Given the description of an element on the screen output the (x, y) to click on. 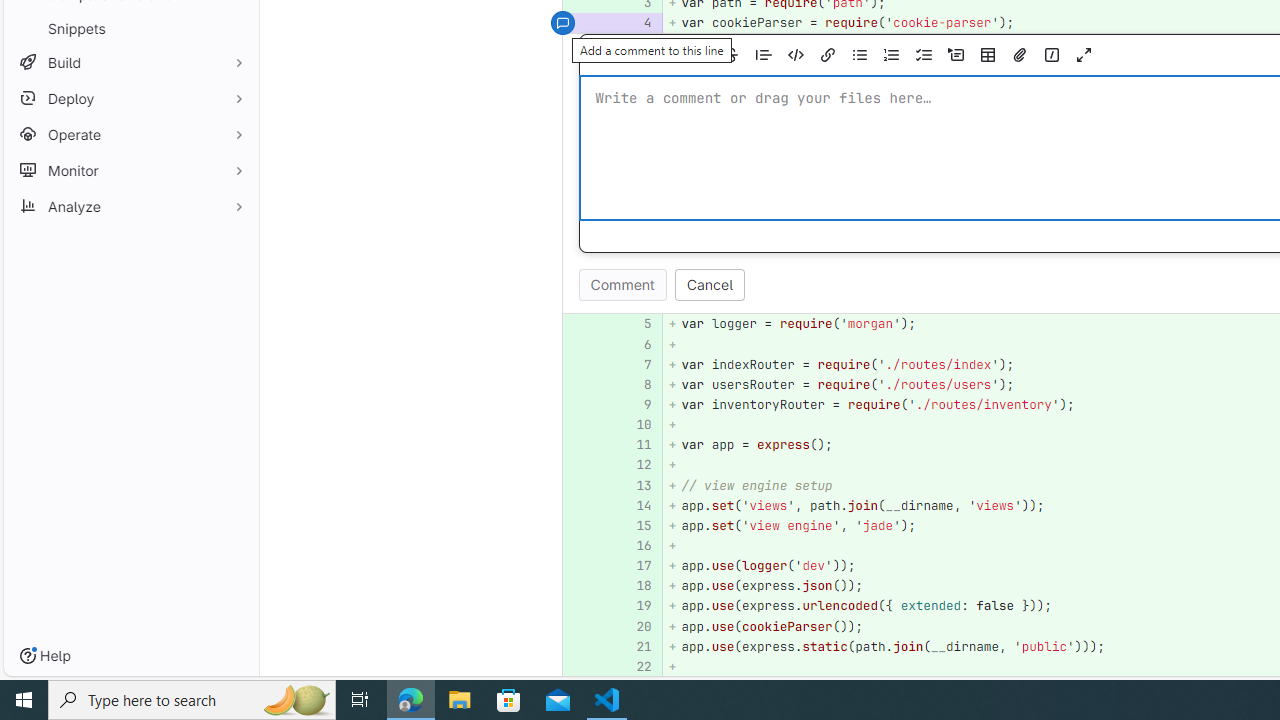
10 (633, 425)
9 (637, 404)
22 (637, 665)
Preview (621, 55)
6 (633, 344)
Add italic text (Ctrl+I) (699, 55)
12 (633, 465)
Operate (130, 134)
Add a checklist (923, 55)
Insert a quote (763, 55)
17 (633, 565)
15 (637, 524)
